Given the description of an element on the screen output the (x, y) to click on. 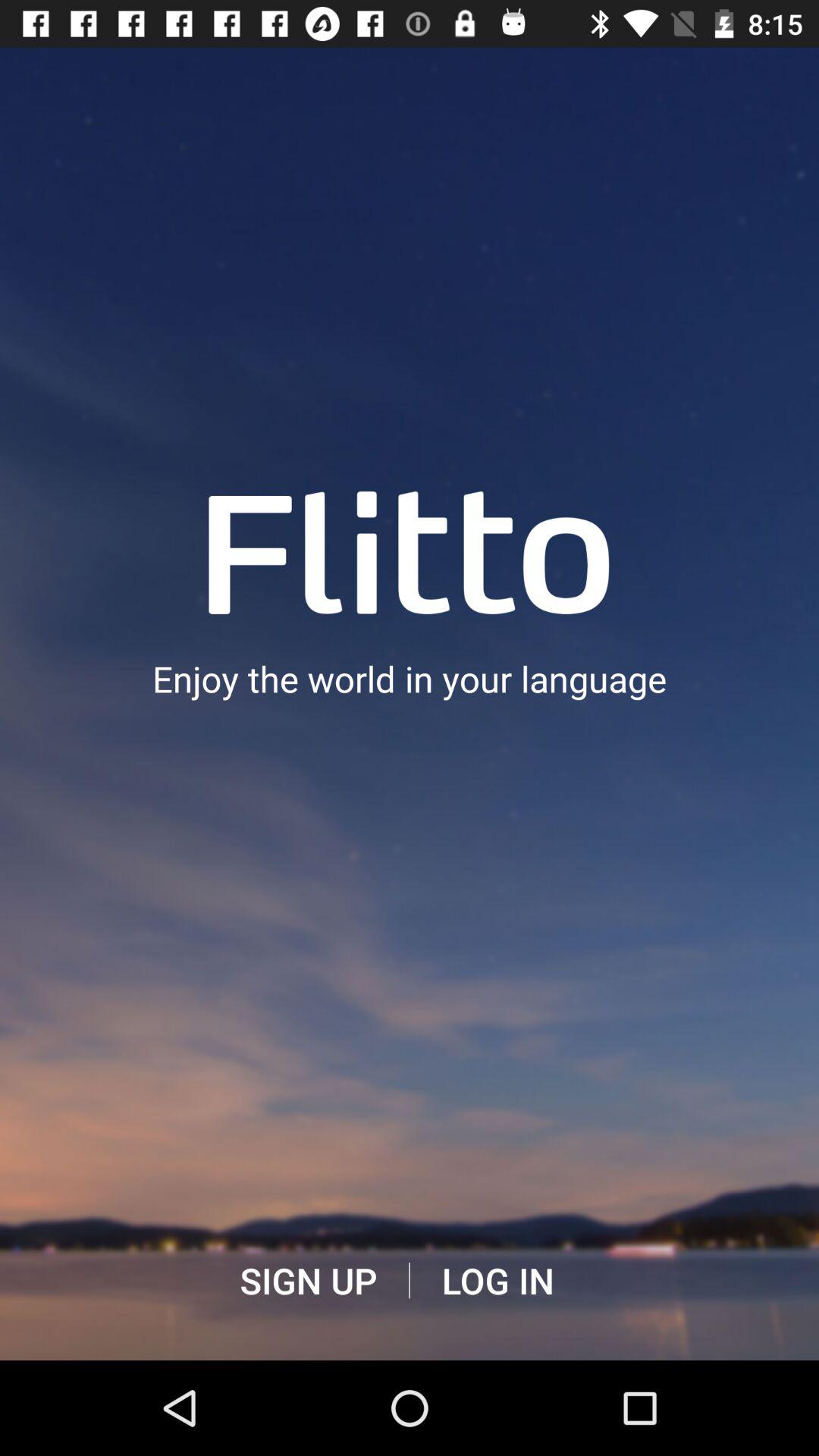
launch item below enjoy the world icon (498, 1280)
